Given the description of an element on the screen output the (x, y) to click on. 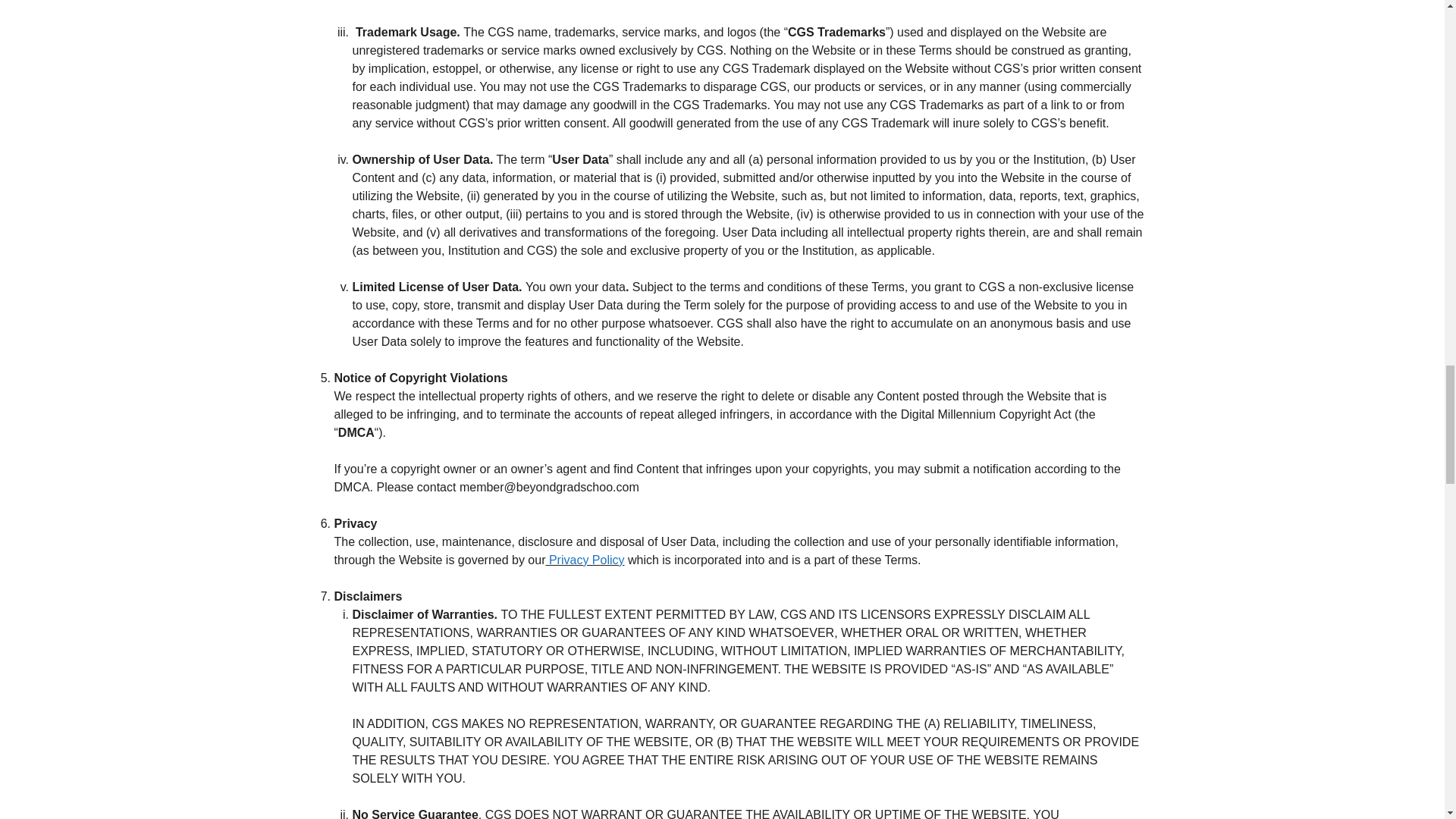
Privacy Policy (586, 559)
